Given the description of an element on the screen output the (x, y) to click on. 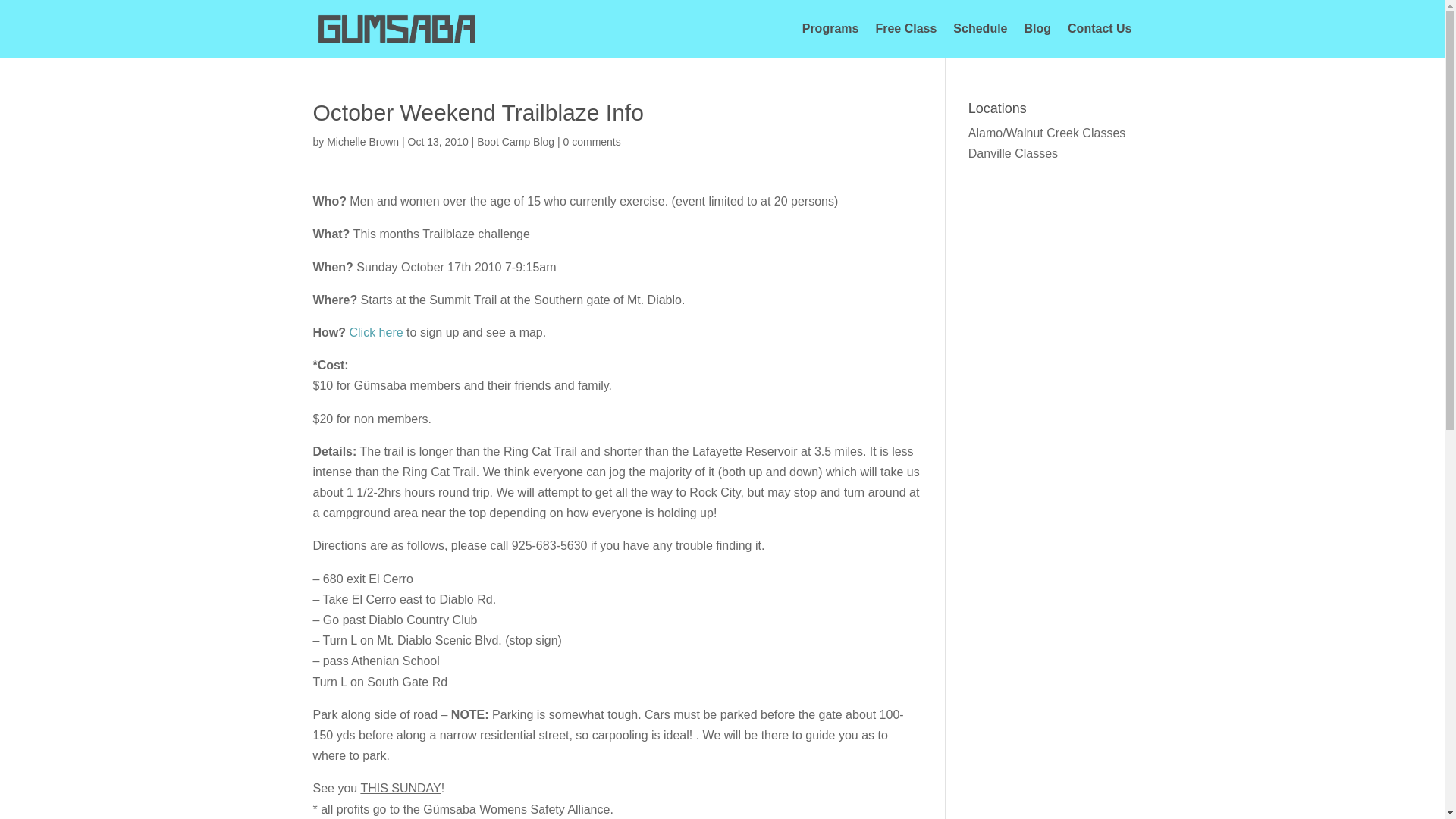
Michelle Brown (362, 141)
Boot Camp Blog (515, 141)
Schedule (980, 40)
Danville Classes (1013, 153)
Posts by Michelle Brown (362, 141)
Free Class (905, 40)
0 comments (592, 141)
Click here (376, 332)
Contact Us (1099, 40)
Programs (830, 40)
